Given the description of an element on the screen output the (x, y) to click on. 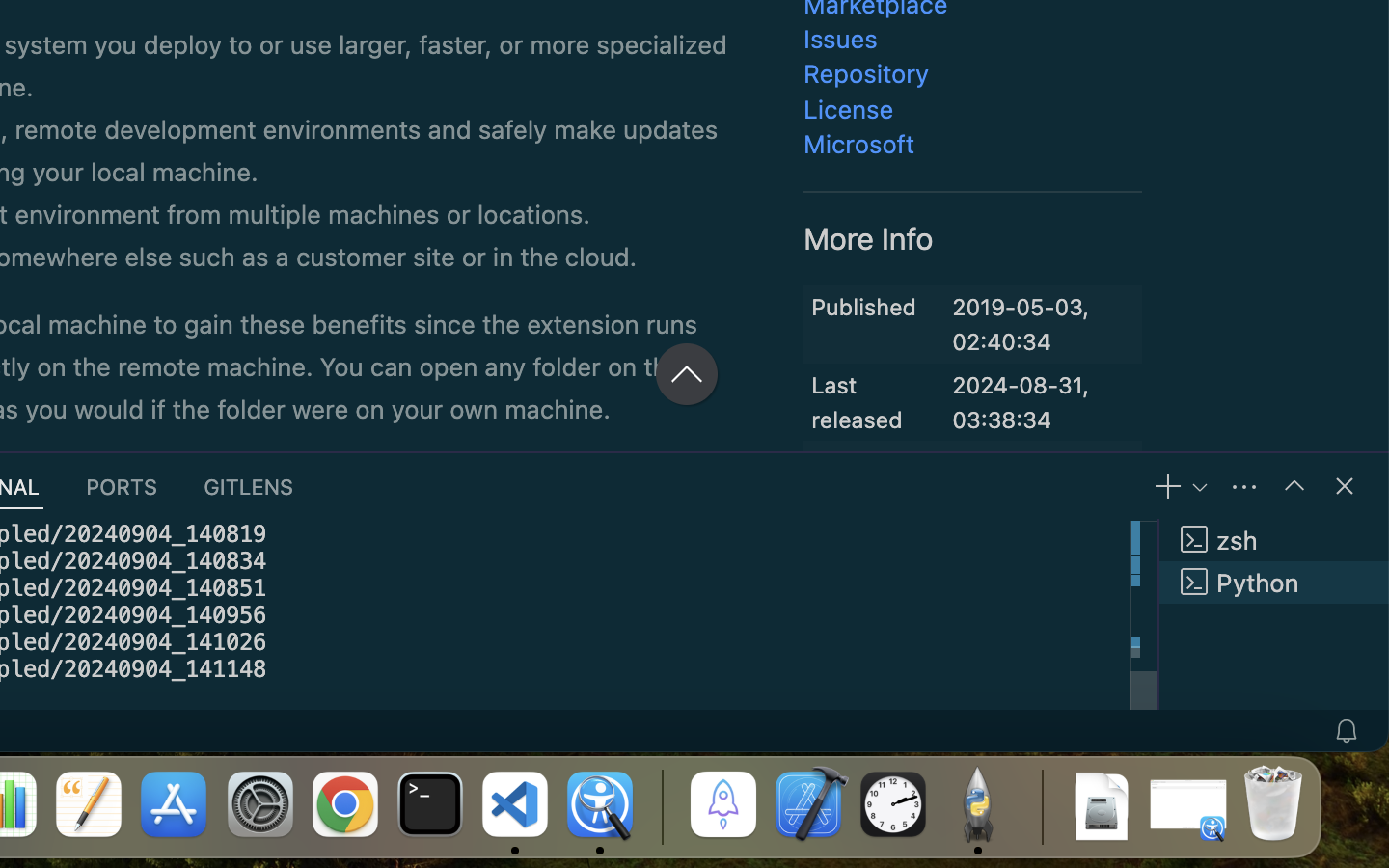
 Element type: AXButton (1344, 485)
Repository Element type: AXStaticText (866, 73)
2019-05-03, 02:40:34 Element type: AXStaticText (1021, 324)
2024-08-31, 03:38:34 Element type: AXStaticText (1021, 402)
zsh  Element type: AXGroup (1274, 539)
